Given the description of an element on the screen output the (x, y) to click on. 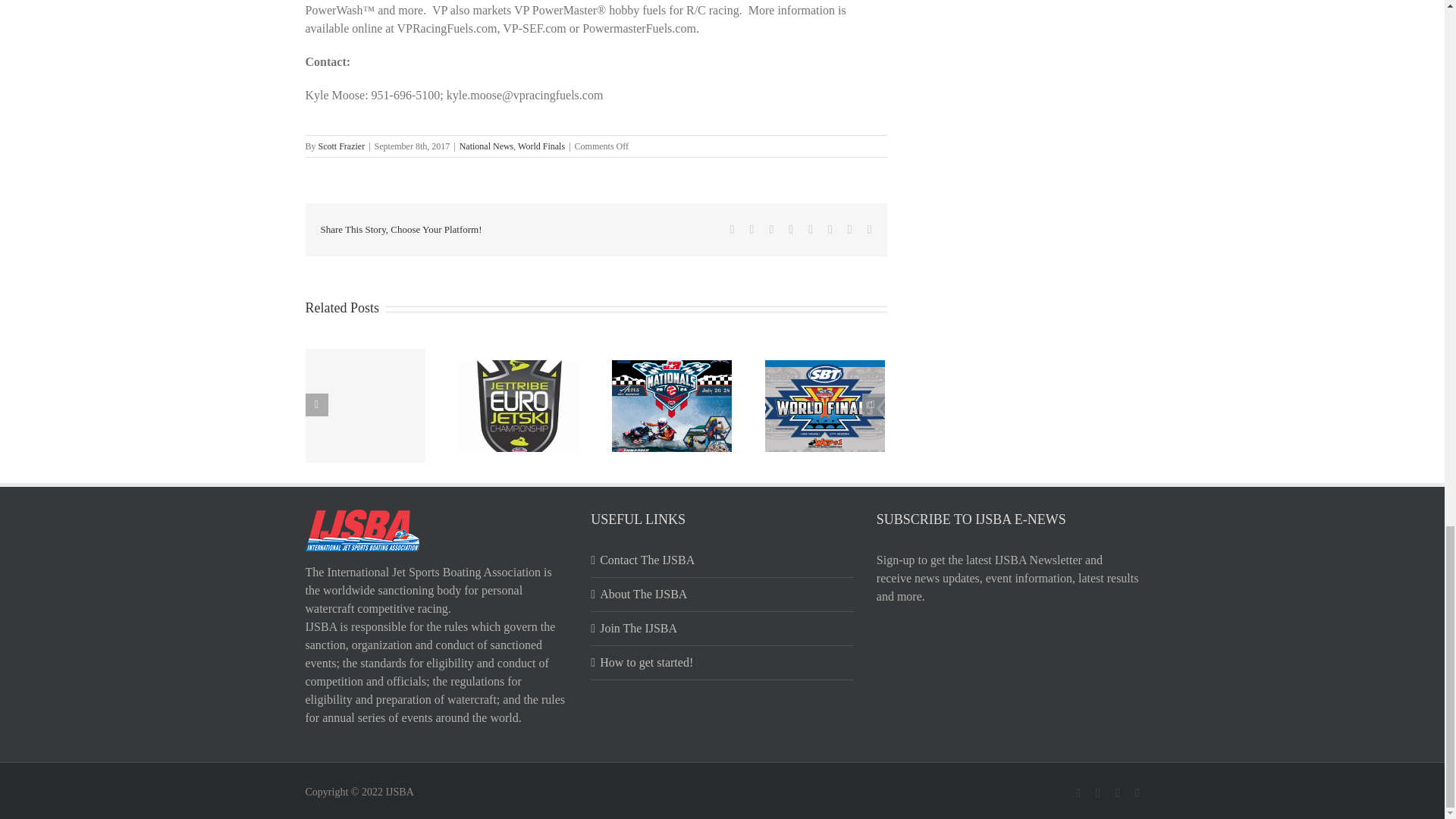
Posts by Scott Frazier (341, 145)
